Given the description of an element on the screen output the (x, y) to click on. 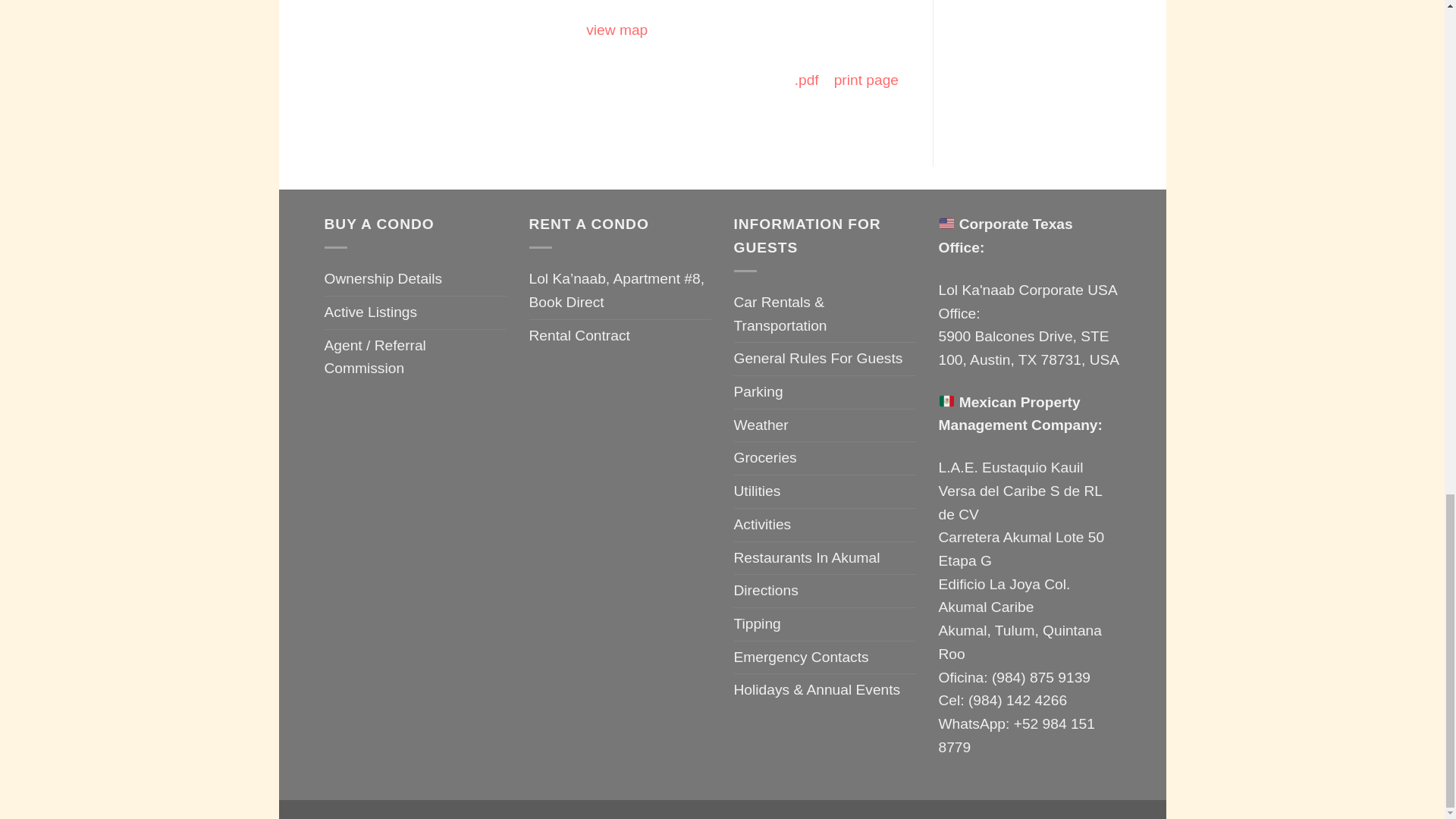
view map (616, 29)
Utilities (756, 491)
Rental Contract (579, 336)
Parking (758, 391)
Activities (762, 524)
Groceries (764, 458)
Active Listings (370, 312)
.pdf (807, 80)
Ownership Details (383, 278)
Weather (761, 425)
